Given the description of an element on the screen output the (x, y) to click on. 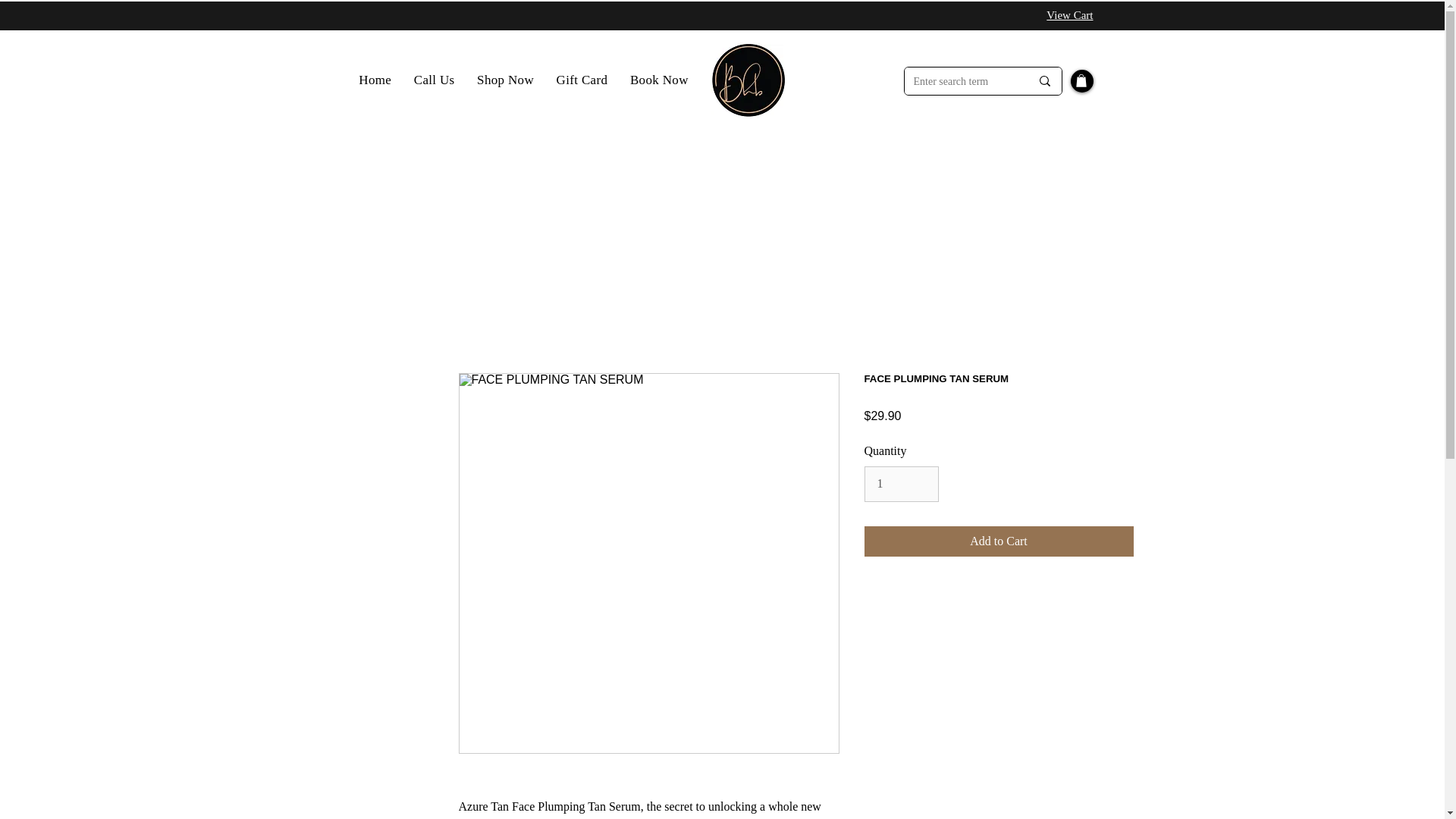
1 (901, 483)
View Cart (1069, 15)
Call Us (434, 80)
Home (374, 80)
Book Now (658, 80)
Shop Now (504, 80)
Add to Cart (999, 541)
Gift Card (581, 80)
